Given the description of an element on the screen output the (x, y) to click on. 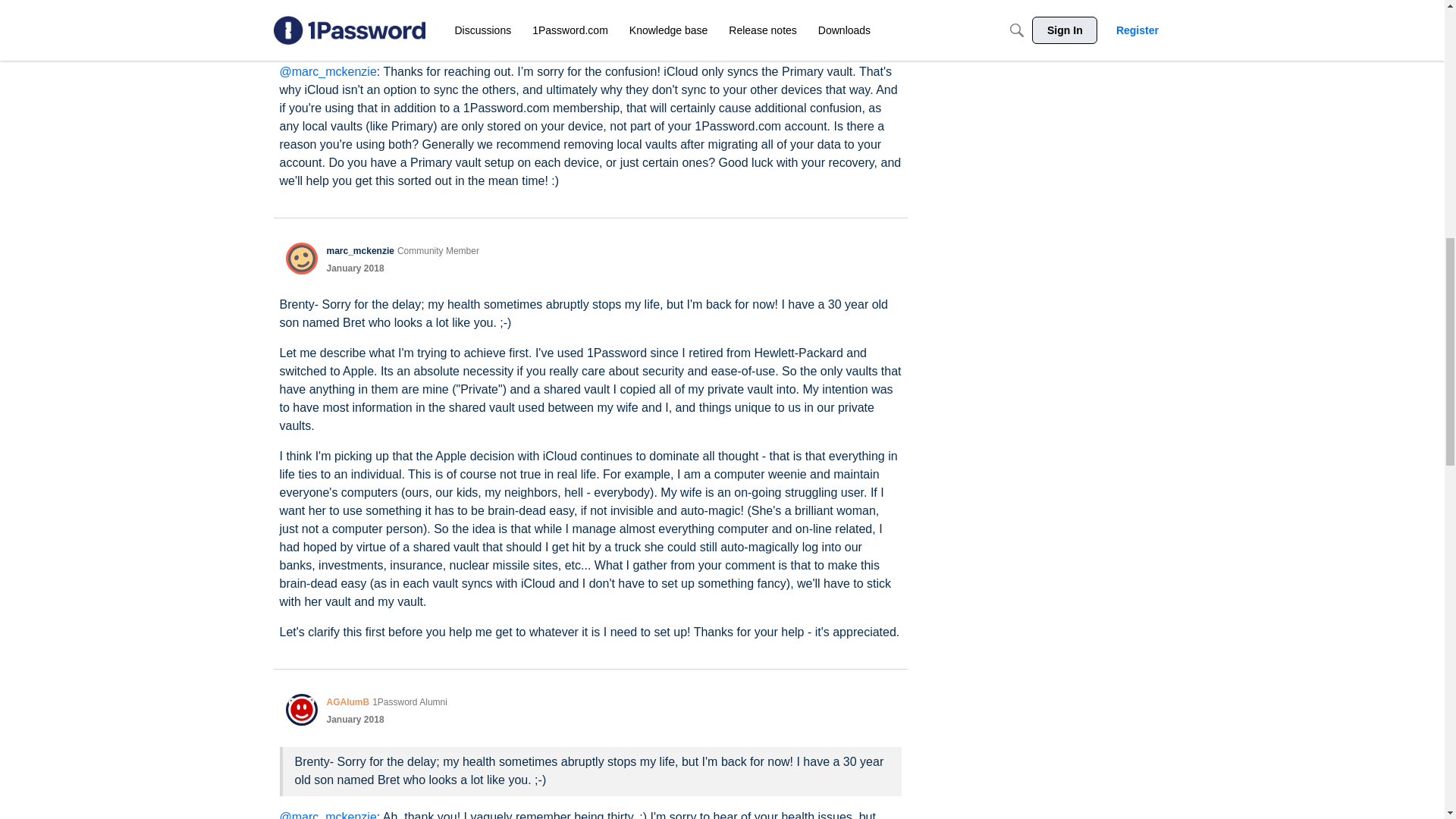
Level 1 (438, 250)
January 5, 2018 8:25AM (355, 35)
January 2018 (355, 35)
AGAlumB (347, 18)
AGAlumB (301, 25)
AGAlumB (347, 701)
January 10, 2018 12:57AM (355, 267)
January 2018 (355, 267)
AGAlumB (301, 709)
1Password Alumni (409, 702)
